Given the description of an element on the screen output the (x, y) to click on. 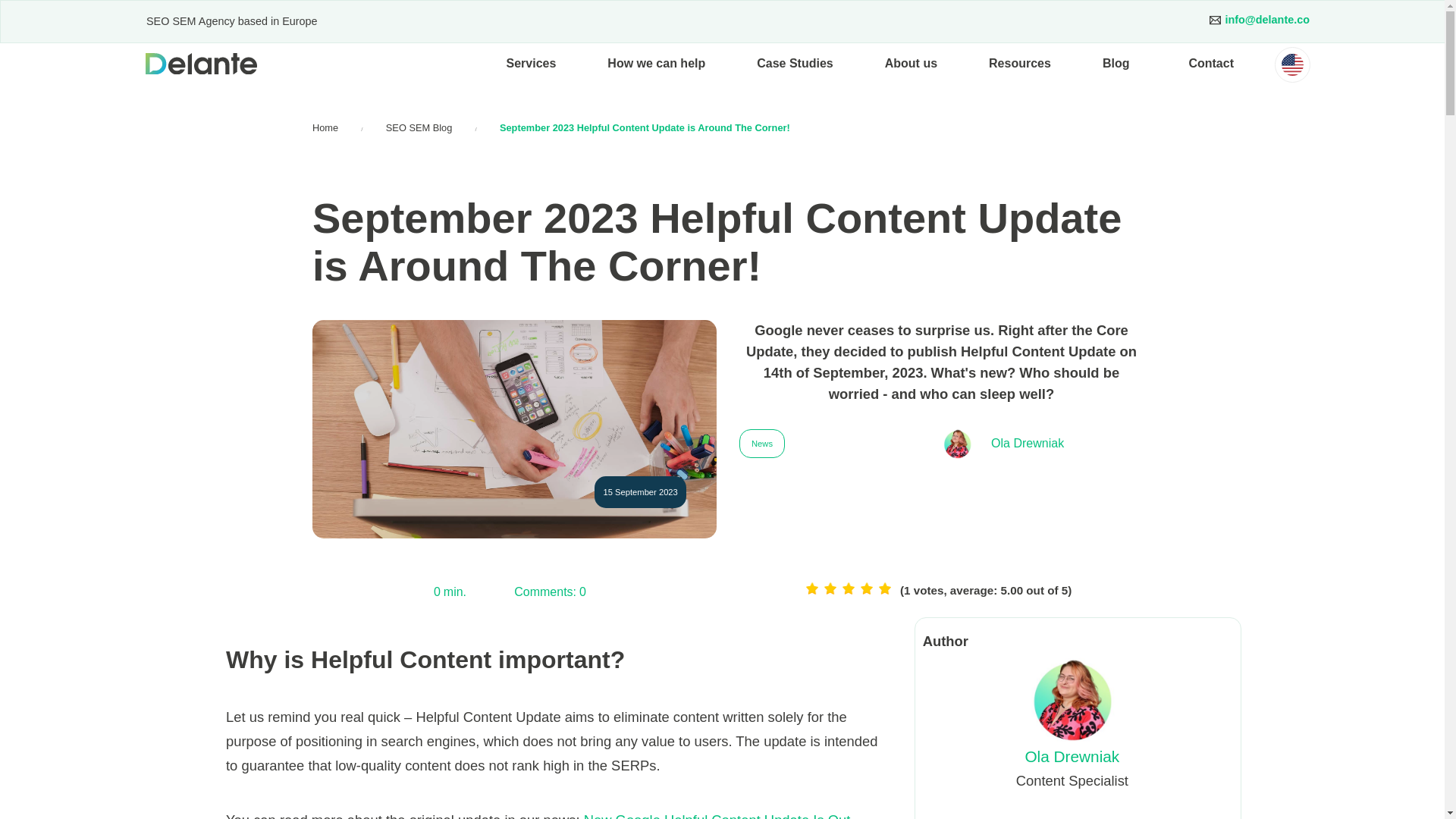
Services (530, 63)
How we can help (656, 63)
English (1292, 65)
